Given the description of an element on the screen output the (x, y) to click on. 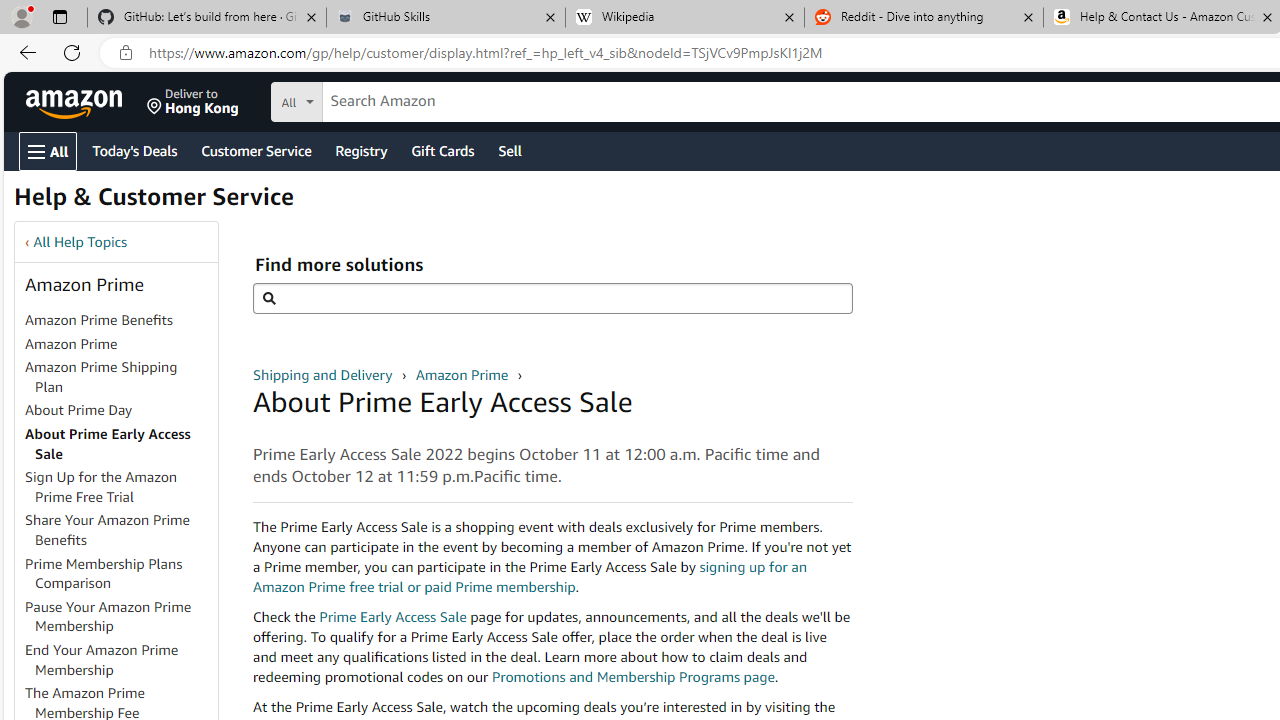
Amazon Prime (71, 343)
Share Your Amazon Prime Benefits (107, 529)
Today's Deals (134, 150)
Amazon Prime Benefits (98, 320)
Deliver to Hong Kong (193, 101)
Gift Cards (442, 150)
Amazon Prime (120, 344)
Prime Early Access Sale (392, 615)
Skip to main content (86, 100)
Sell (509, 150)
Help & Customer Service (154, 201)
About Prime Day (79, 410)
